Given the description of an element on the screen output the (x, y) to click on. 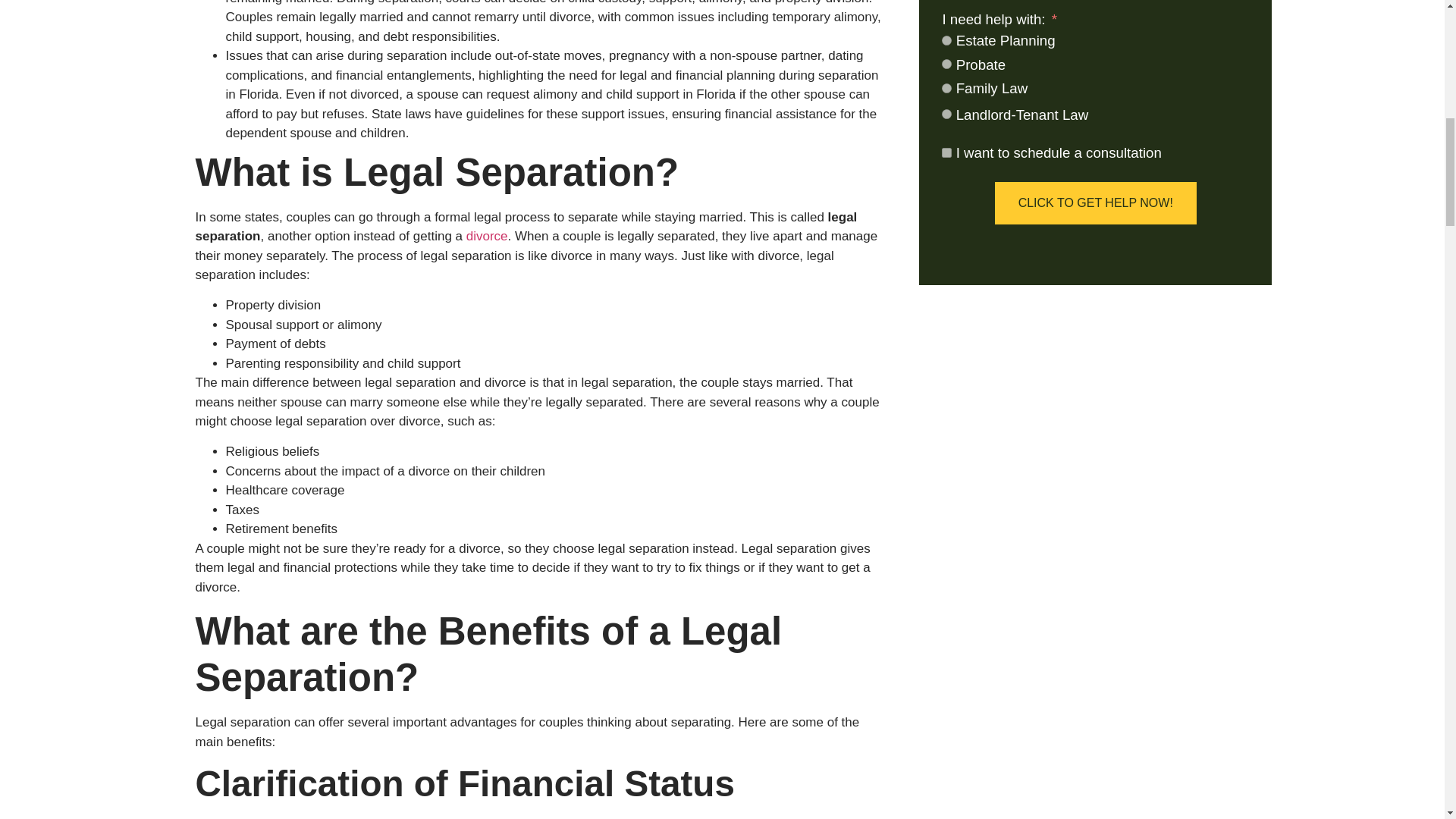
Landlord-Tenant Law (947, 113)
Estate Planning (947, 40)
Probate (947, 63)
Family Law (947, 88)
 I want to schedule a consultation (947, 153)
